Given the description of an element on the screen output the (x, y) to click on. 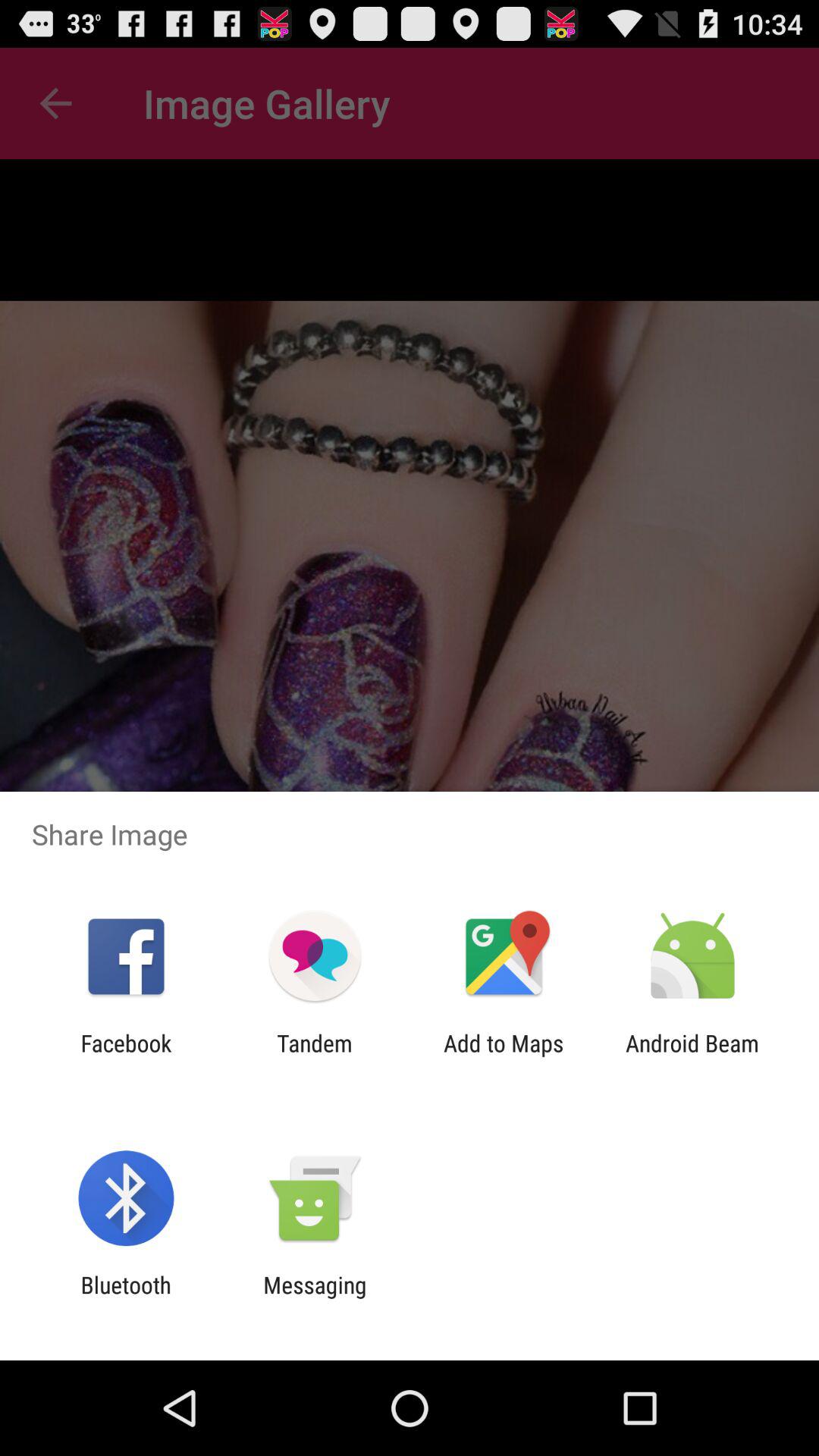
turn off the facebook app (125, 1056)
